Given the description of an element on the screen output the (x, y) to click on. 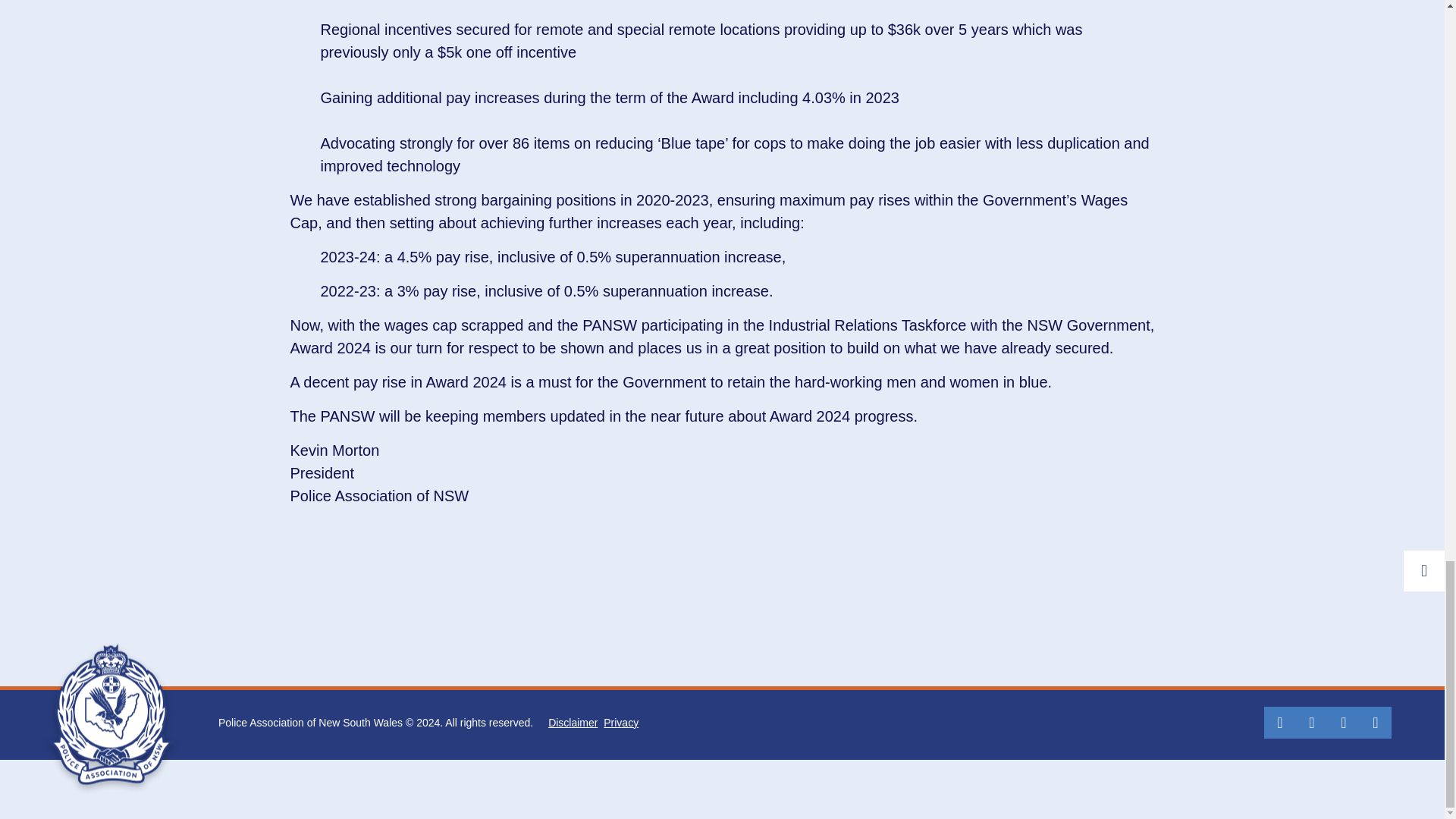
Disclaimer (572, 722)
Privacy (621, 722)
Disclaimer (572, 722)
Privacy (621, 722)
